Given the description of an element on the screen output the (x, y) to click on. 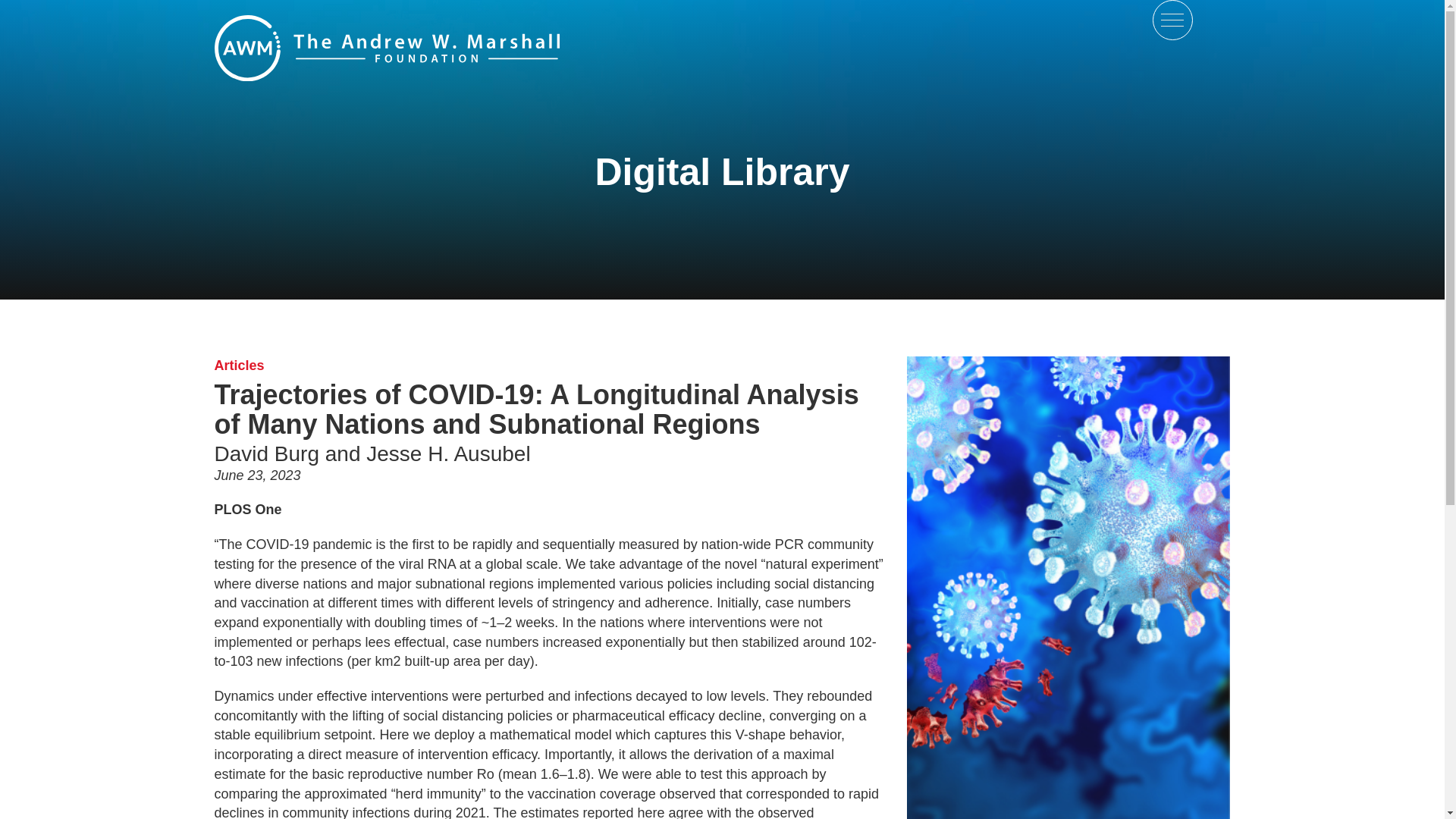
Search (42, 9)
